Given the description of an element on the screen output the (x, y) to click on. 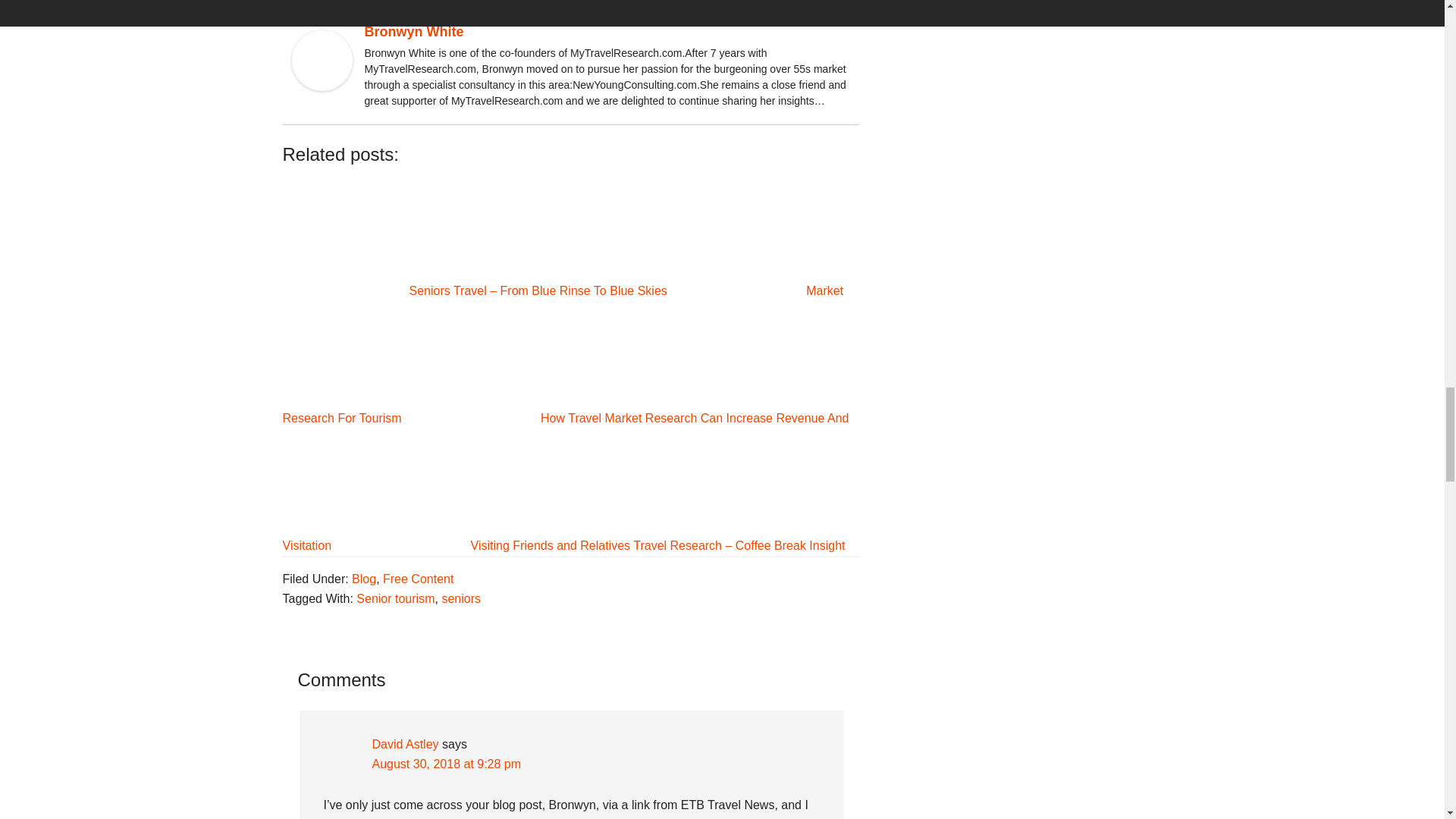
Recent Posts (366, 3)
Market Research For Tourism (562, 354)
Market Research For Tourism (562, 354)
Author (304, 3)
Bronwyn White (413, 31)
